Given the description of an element on the screen output the (x, y) to click on. 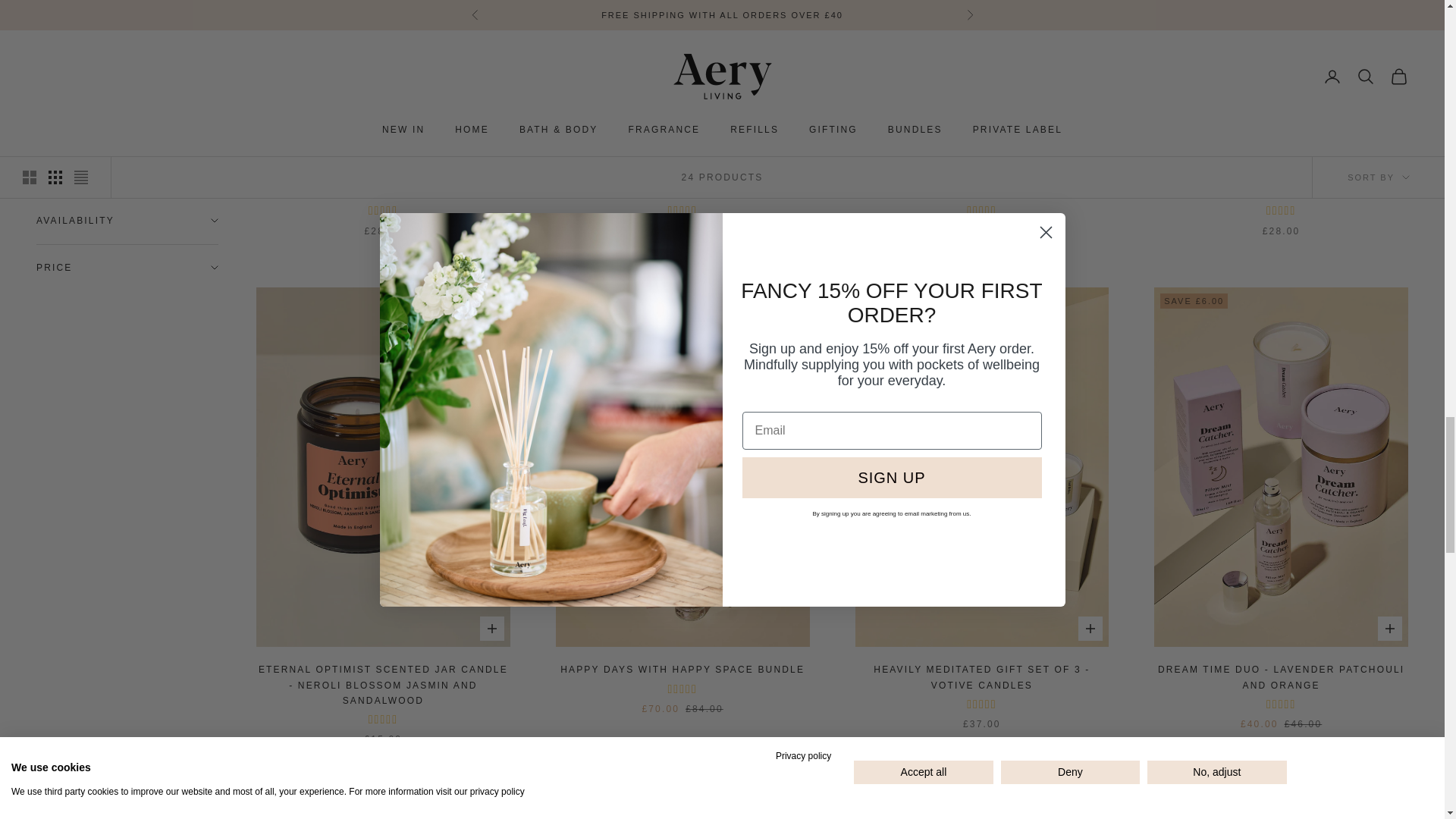
4.92 Stars - 13 Reviews (382, 211)
5 Stars - 4 Reviews (382, 719)
4.67 Stars - 6 Reviews (980, 211)
4.73 Stars - 22 Reviews (1280, 211)
4.4 Stars - 5 Reviews (682, 211)
